Given the description of an element on the screen output the (x, y) to click on. 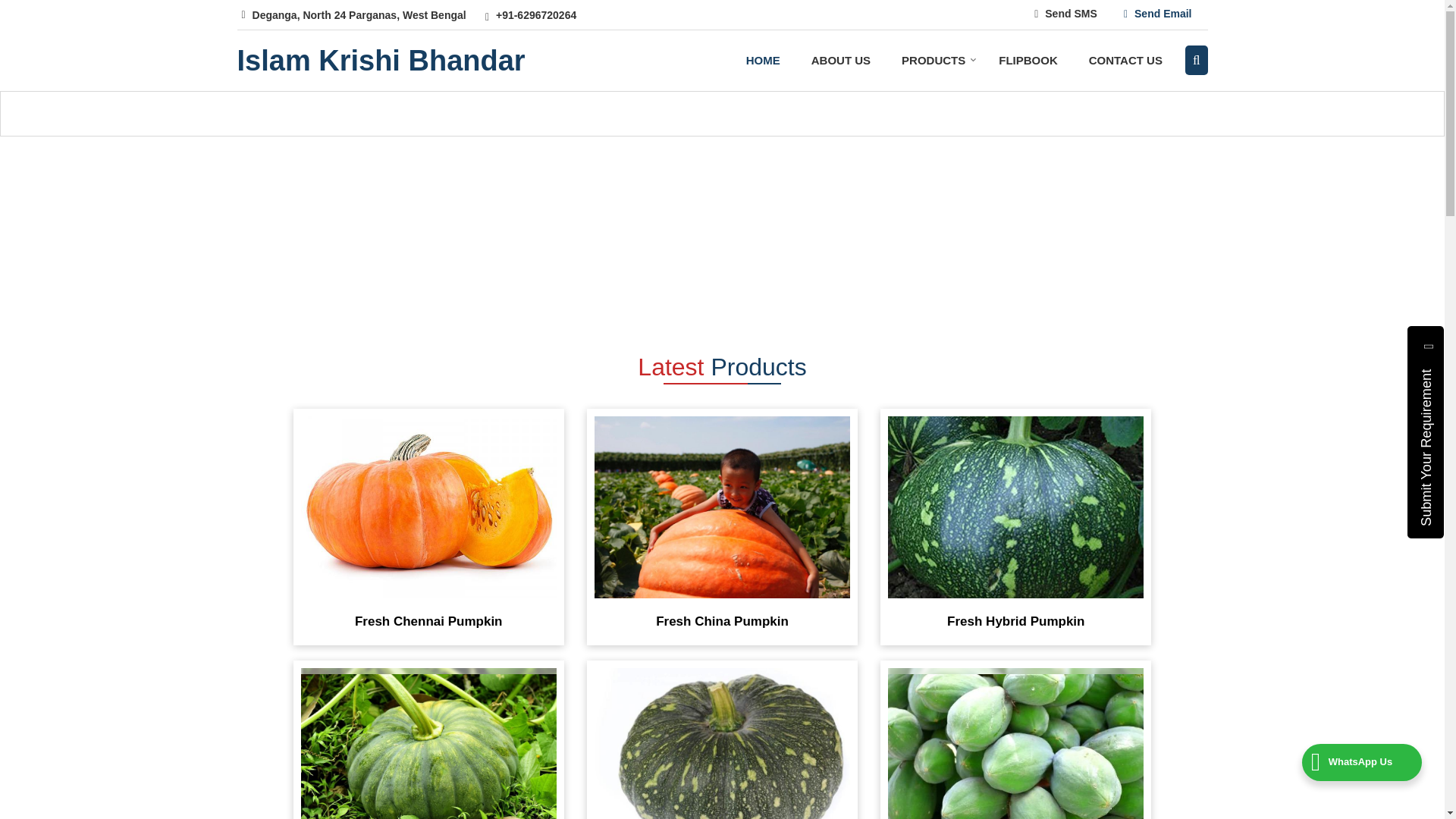
FLIPBOOK (1028, 60)
About Us (840, 60)
Enquiry Now (761, 539)
Fresh Chennai Pumpkin (428, 507)
ABOUT US (840, 60)
Send Email (1158, 13)
Flipbook (1028, 60)
CONTACT US (1125, 60)
View More (462, 790)
Islam Krishi Bhandar (379, 60)
PRODUCTS (934, 60)
Fresh Chennai Pumpkin (428, 618)
Enquiry Now (467, 539)
HOME (762, 60)
Fresh China Pumpkin (722, 507)
